Given the description of an element on the screen output the (x, y) to click on. 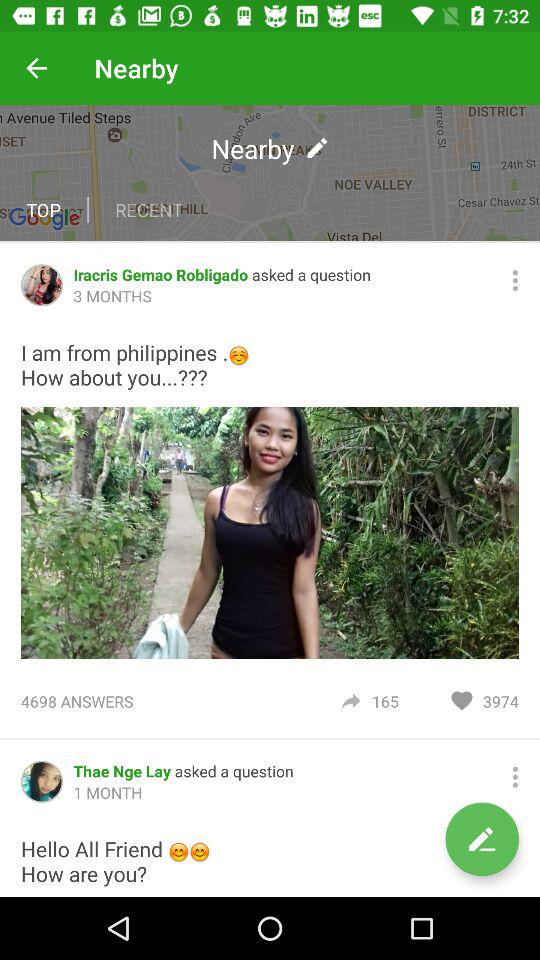
more options menu button (515, 776)
